Given the description of an element on the screen output the (x, y) to click on. 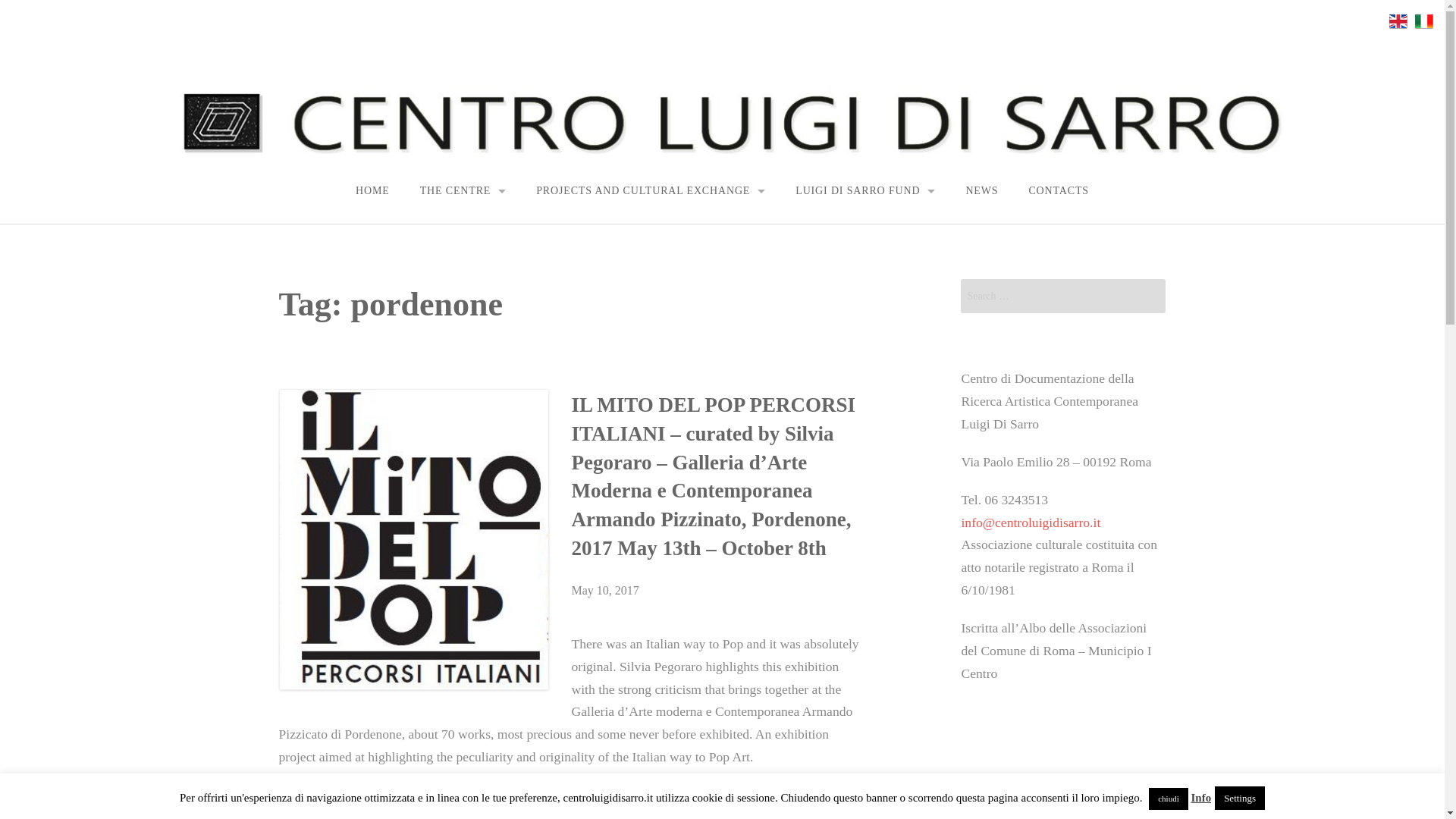
THE CENTRE (462, 190)
NEWS (981, 190)
BIOGRAPHY (864, 231)
CULTURAL EXCHANGES (649, 299)
HISTORICAL ARCHIVE (864, 367)
EXHIBITIONS SINCE 2005 (347, 334)
ARP PROJECT (649, 265)
PROJECTS AND CULTURAL EXCHANGE (650, 190)
Italy  (1423, 21)
HOME (372, 190)
HISTORY (463, 265)
DRAWING AND GRAPHIC (696, 368)
COLLECTIONS (864, 333)
English  (1398, 21)
COLLECTION (463, 299)
